Given the description of an element on the screen output the (x, y) to click on. 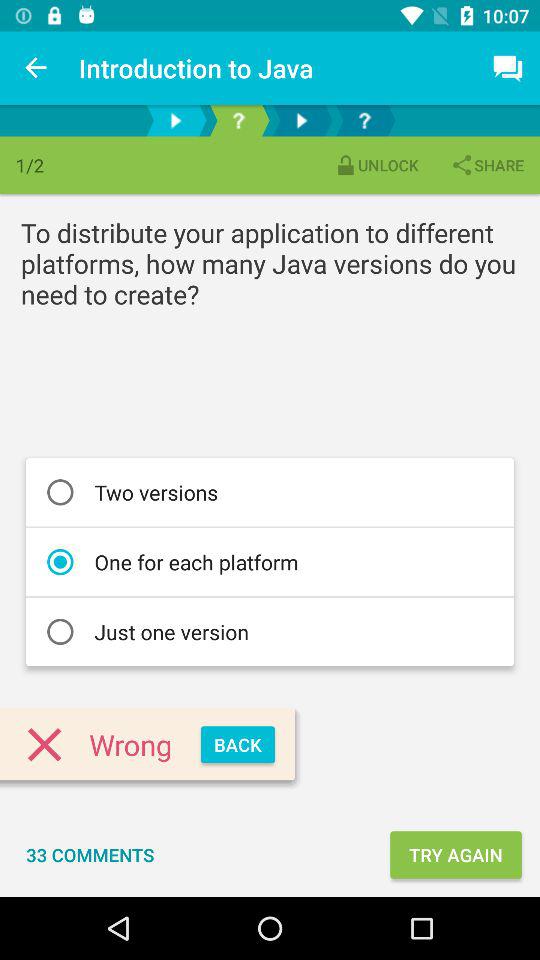
go to first page of the lesson (175, 120)
